Given the description of an element on the screen output the (x, y) to click on. 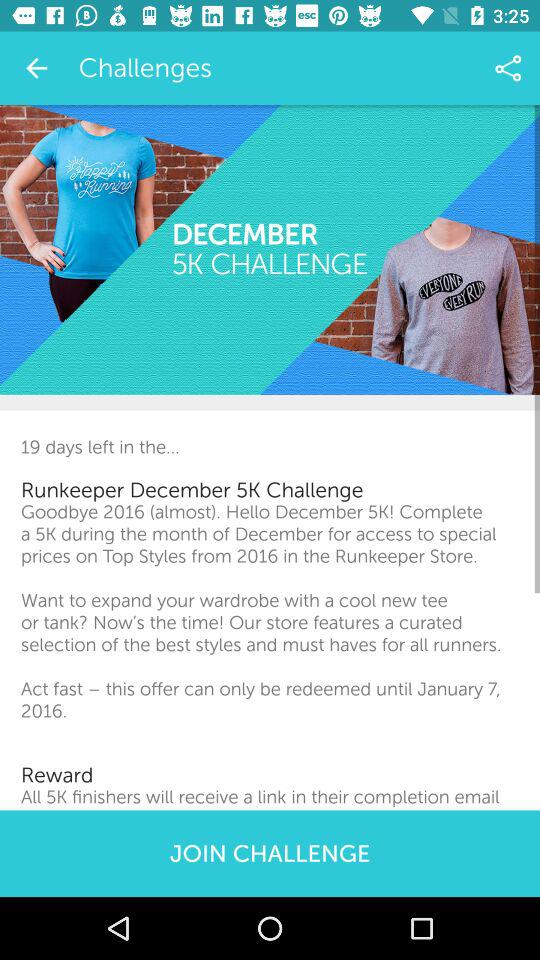
press the item at the top right corner (508, 67)
